Given the description of an element on the screen output the (x, y) to click on. 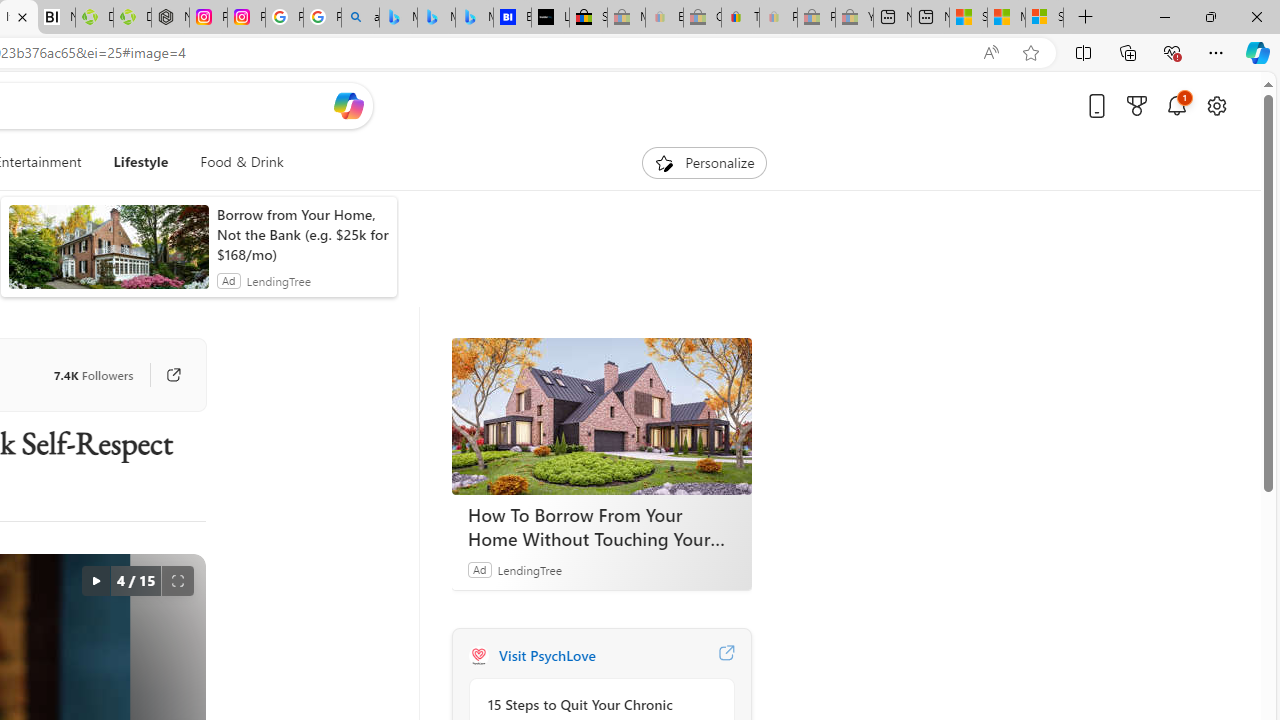
Nvidia va a poner a prueba la paciencia de los inversores (56, 17)
Yard, Garden & Outdoor Living - Sleeping (853, 17)
Full screen (177, 580)
PsychLove (478, 655)
Nordace - Nordace Edin Collection (170, 17)
autorotate button (95, 580)
